Given the description of an element on the screen output the (x, y) to click on. 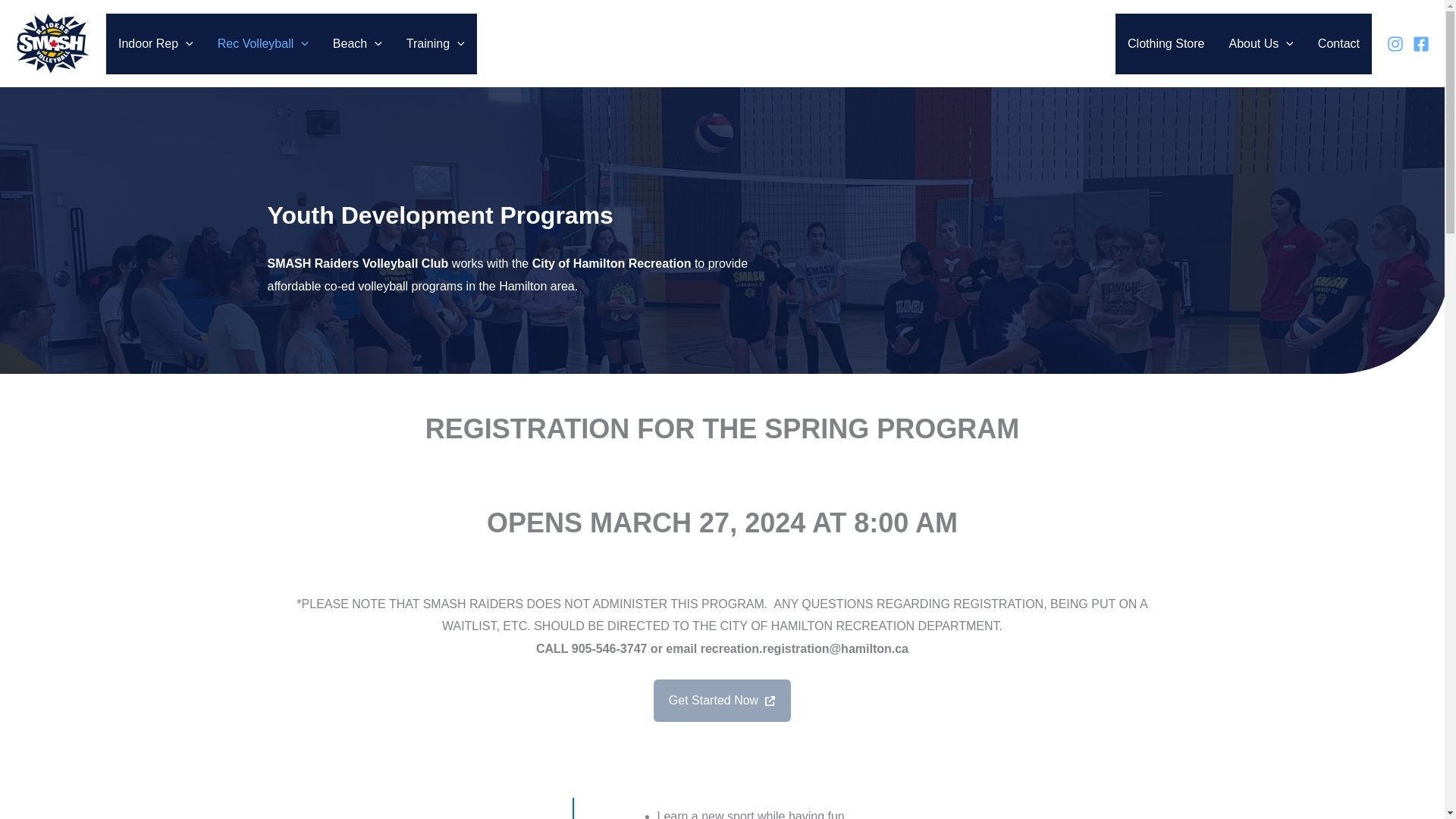
About Us (1259, 43)
Beach (357, 43)
Contact (1338, 43)
Clothing Store (1165, 43)
Indoor Rep (155, 43)
Training (435, 43)
Rec Volleyball (262, 43)
